Given the description of an element on the screen output the (x, y) to click on. 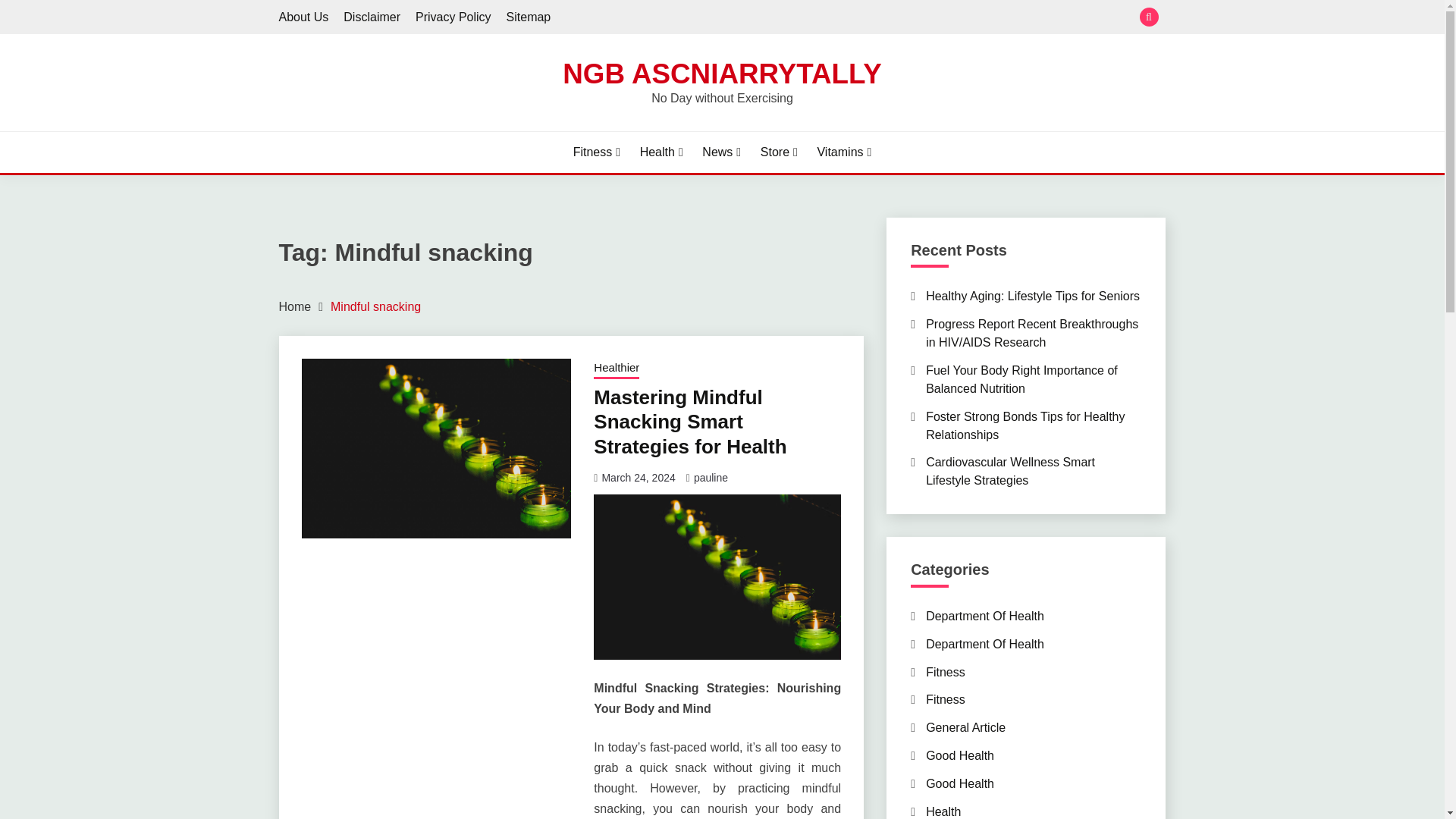
NGB ASCNIARRYTALLY (721, 73)
Sitemap (528, 16)
Disclaimer (371, 16)
Health (661, 152)
Fitness (596, 152)
About Us (304, 16)
Privacy Policy (453, 16)
Search (832, 18)
Home (295, 306)
Mindful snacking (375, 306)
News (721, 152)
Vitamins (843, 152)
Store (778, 152)
